Given the description of an element on the screen output the (x, y) to click on. 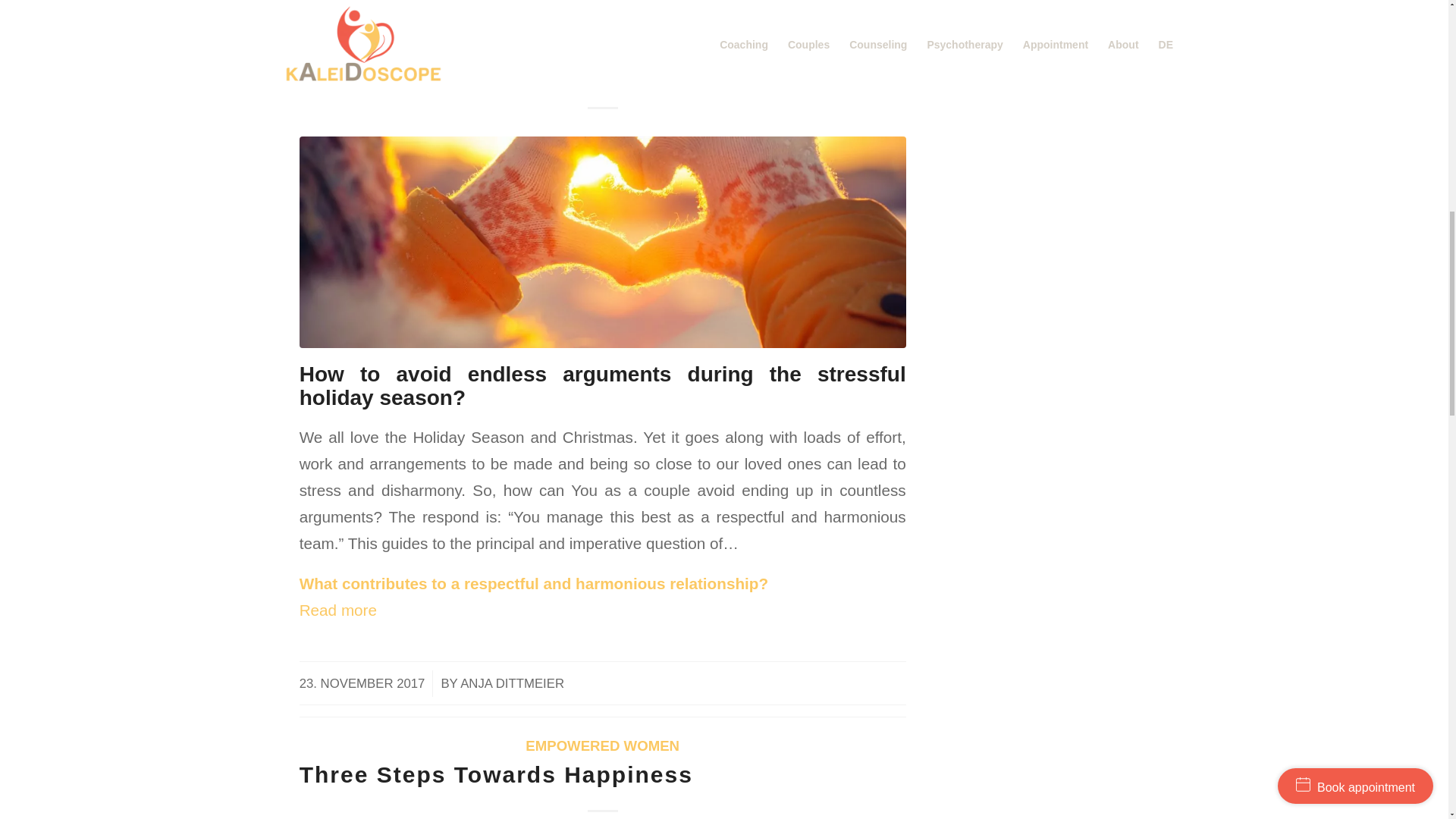
How to Avoid Arguing during Holiday Season (602, 242)
Three Steps Towards Happiness (496, 774)
Happy Holidays (395, 71)
ANJA DITTMEIER (512, 683)
Posts by Anja Dittmeier (512, 683)
Permanent Link: Happy Holidays (395, 71)
EMPOWERED WOMEN (602, 745)
COUPLES (603, 43)
Permanent Link: Three Steps Towards Happiness (496, 774)
Read more (394, 610)
